Given the description of an element on the screen output the (x, y) to click on. 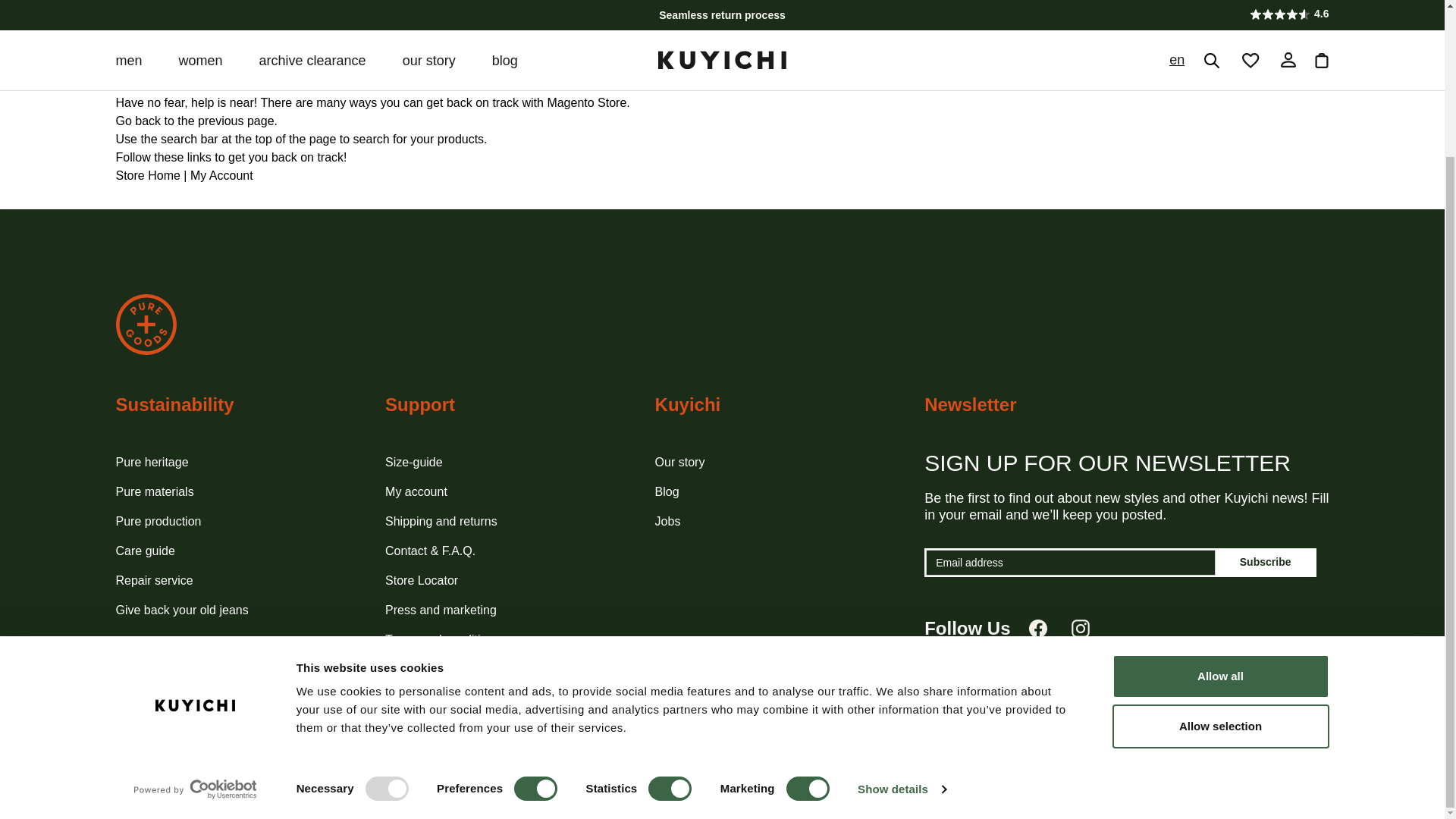
Show details (900, 605)
